Given the description of an element on the screen output the (x, y) to click on. 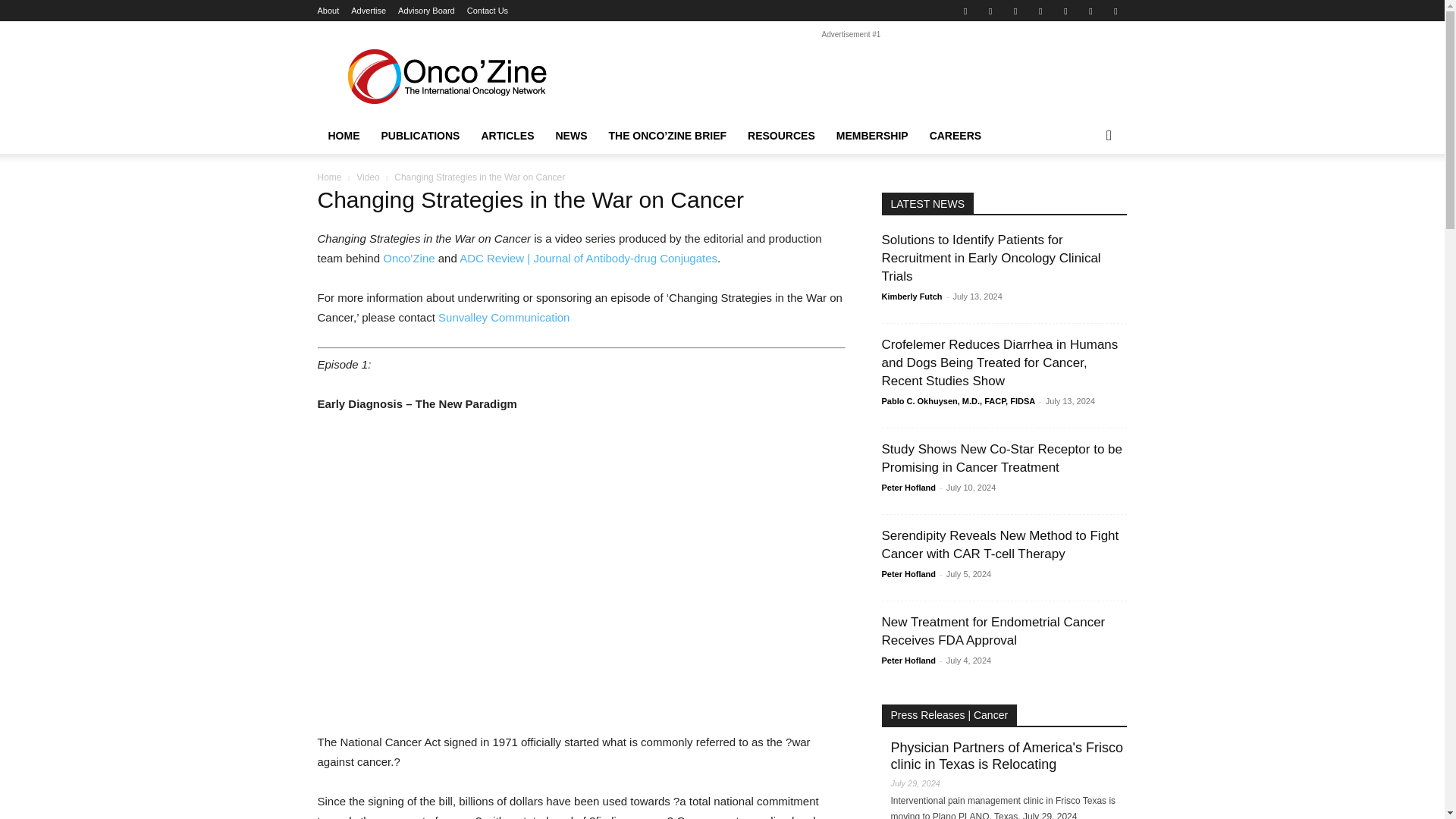
Soundcloud (1015, 10)
Facebook (964, 10)
Xing (1114, 10)
Linkedin (989, 10)
Twitter (1040, 10)
OncoZine, The International Oncology Network (445, 76)
Youtube (1090, 10)
Vimeo (1065, 10)
